Given the description of an element on the screen output the (x, y) to click on. 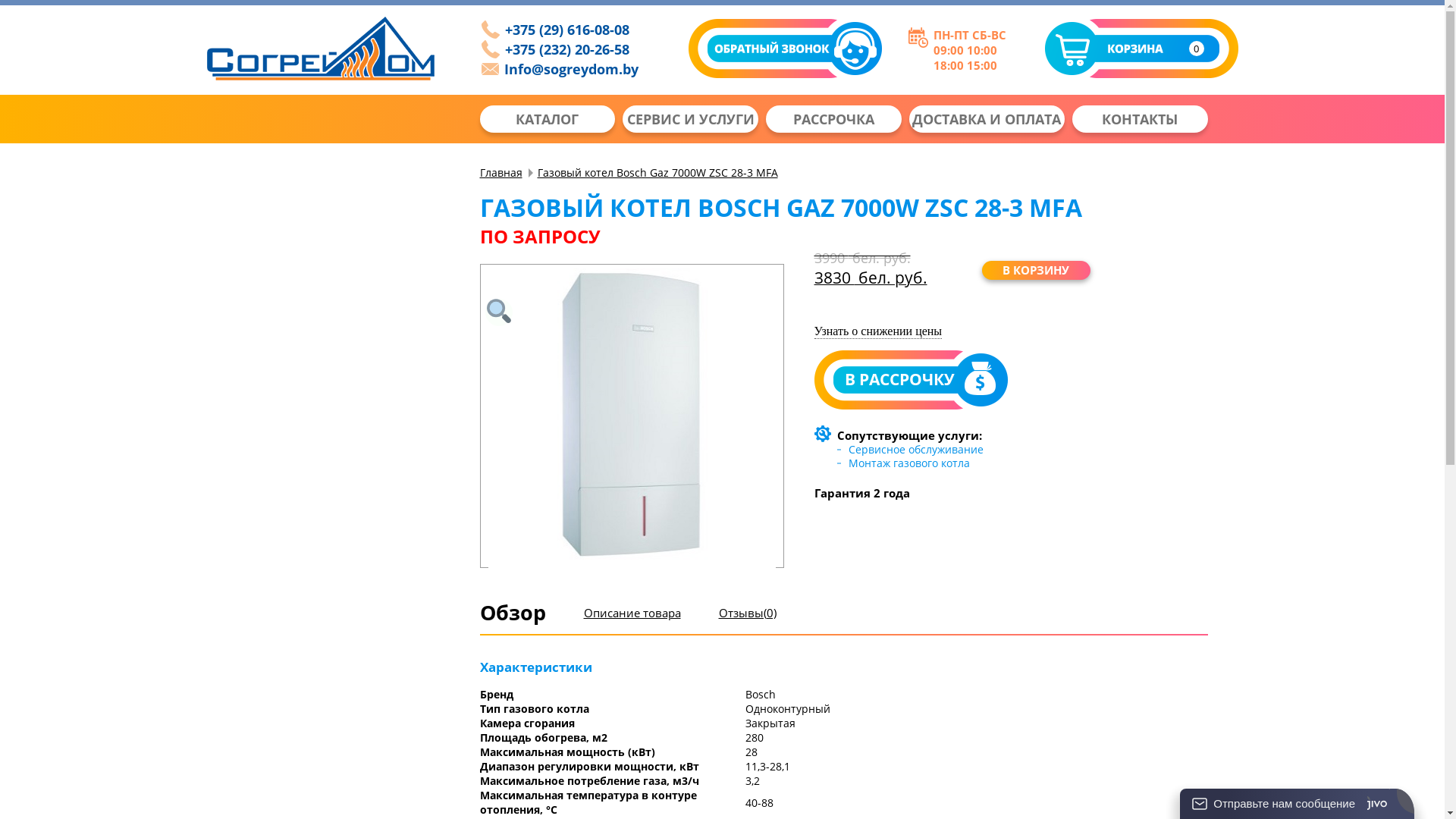
0 Element type: text (1141, 49)
+375 (232) 20-26-58 Element type: text (560, 49)
+375 (29) 616-08-08 Element type: text (560, 30)
Info@sogreydom.by Element type: text (560, 69)
